Given the description of an element on the screen output the (x, y) to click on. 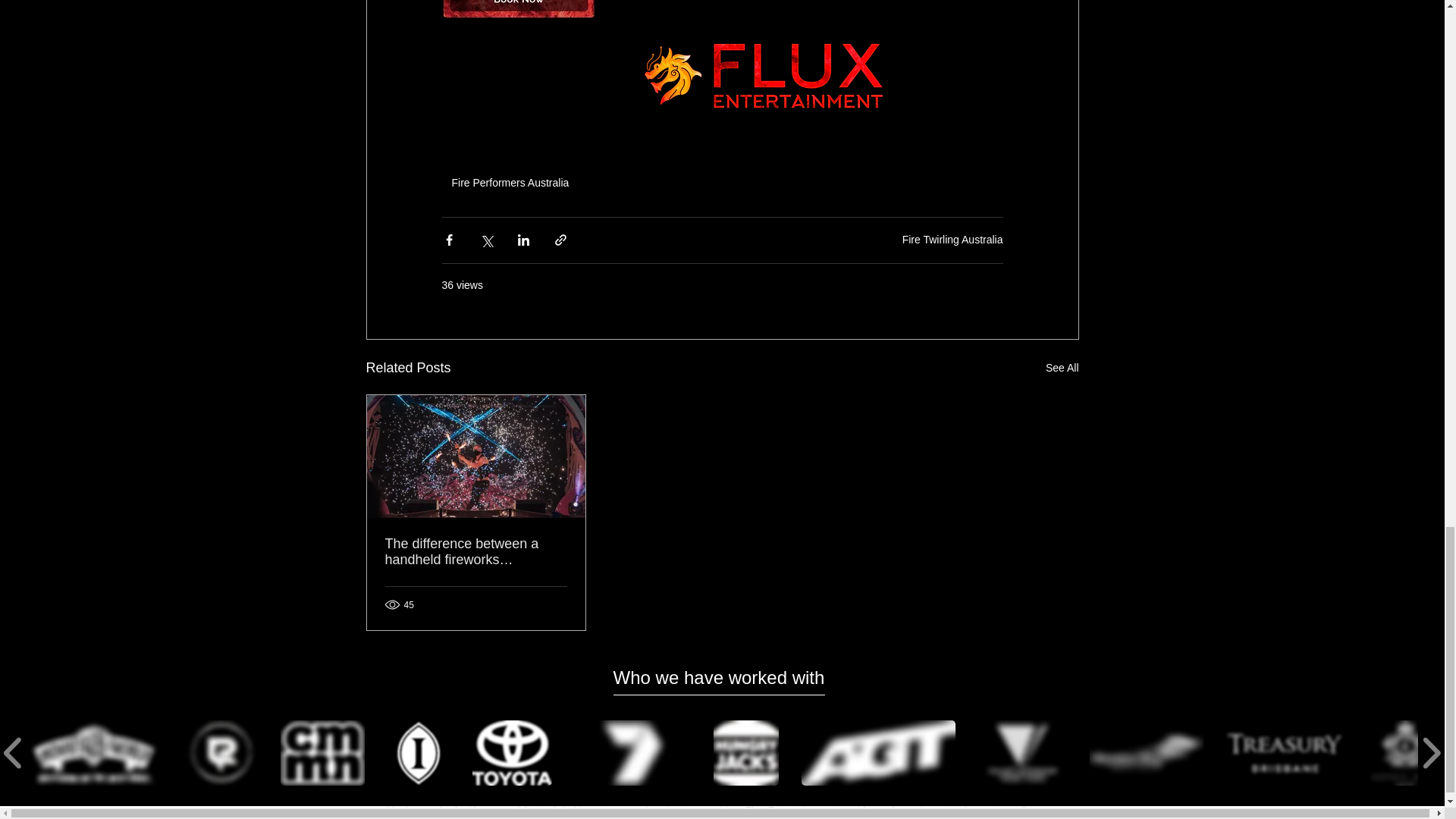
See All (1061, 368)
Fire Performers Australia (509, 182)
Fire Twirling Australia (952, 239)
